Given the description of an element on the screen output the (x, y) to click on. 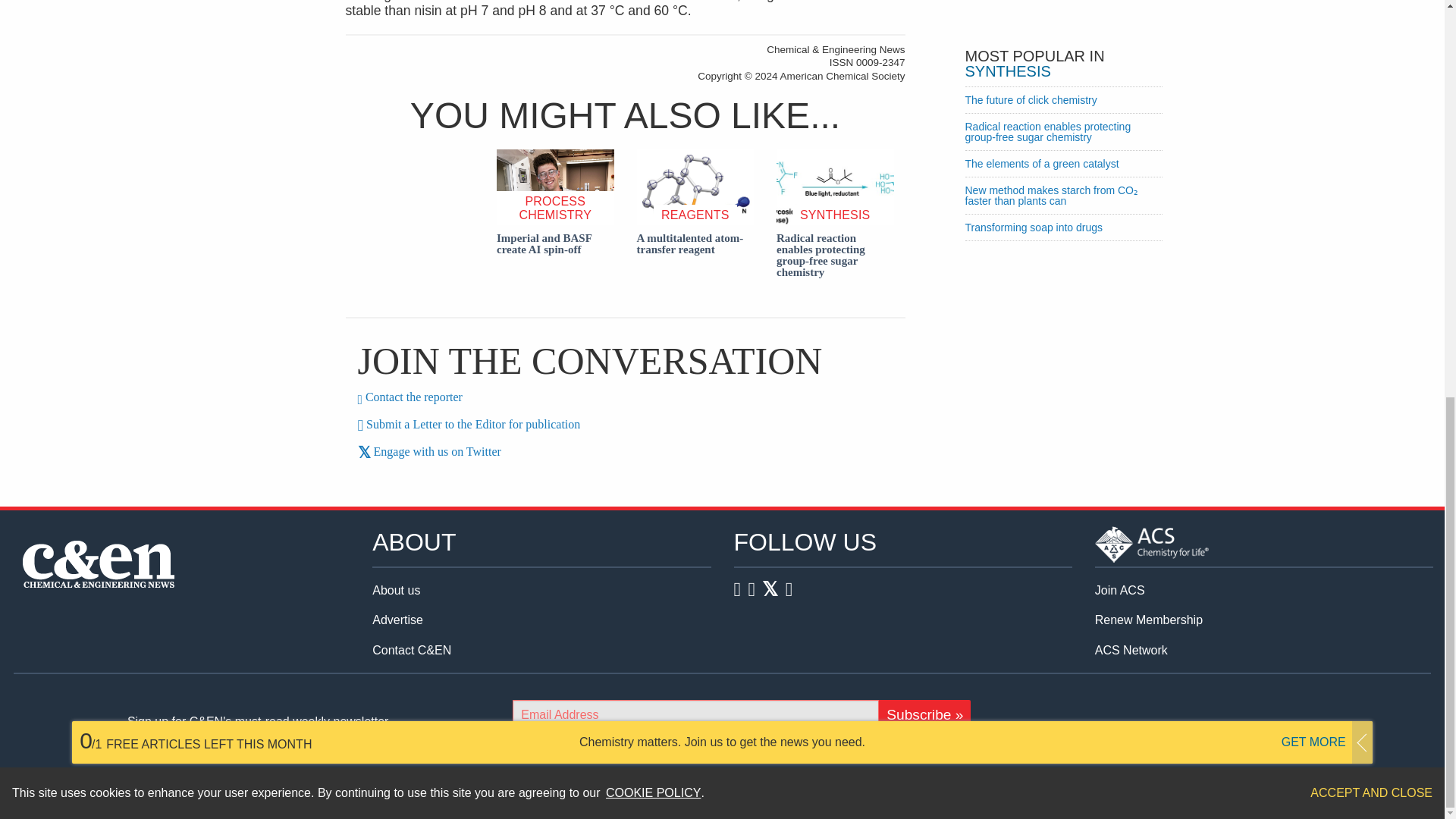
3rd party ad content (1062, 14)
